Given the description of an element on the screen output the (x, y) to click on. 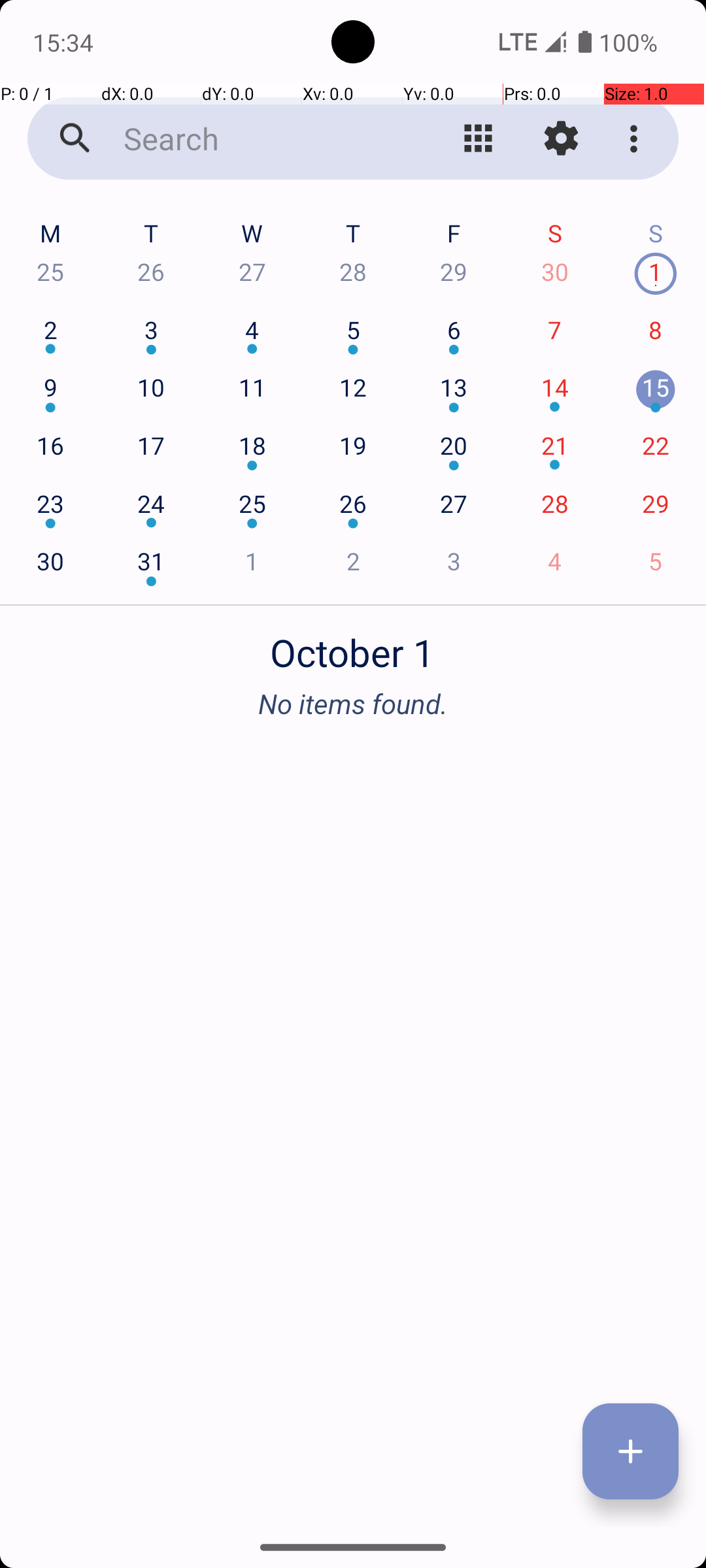
October 1 Element type: android.widget.TextView (352, 644)
